Given the description of an element on the screen output the (x, y) to click on. 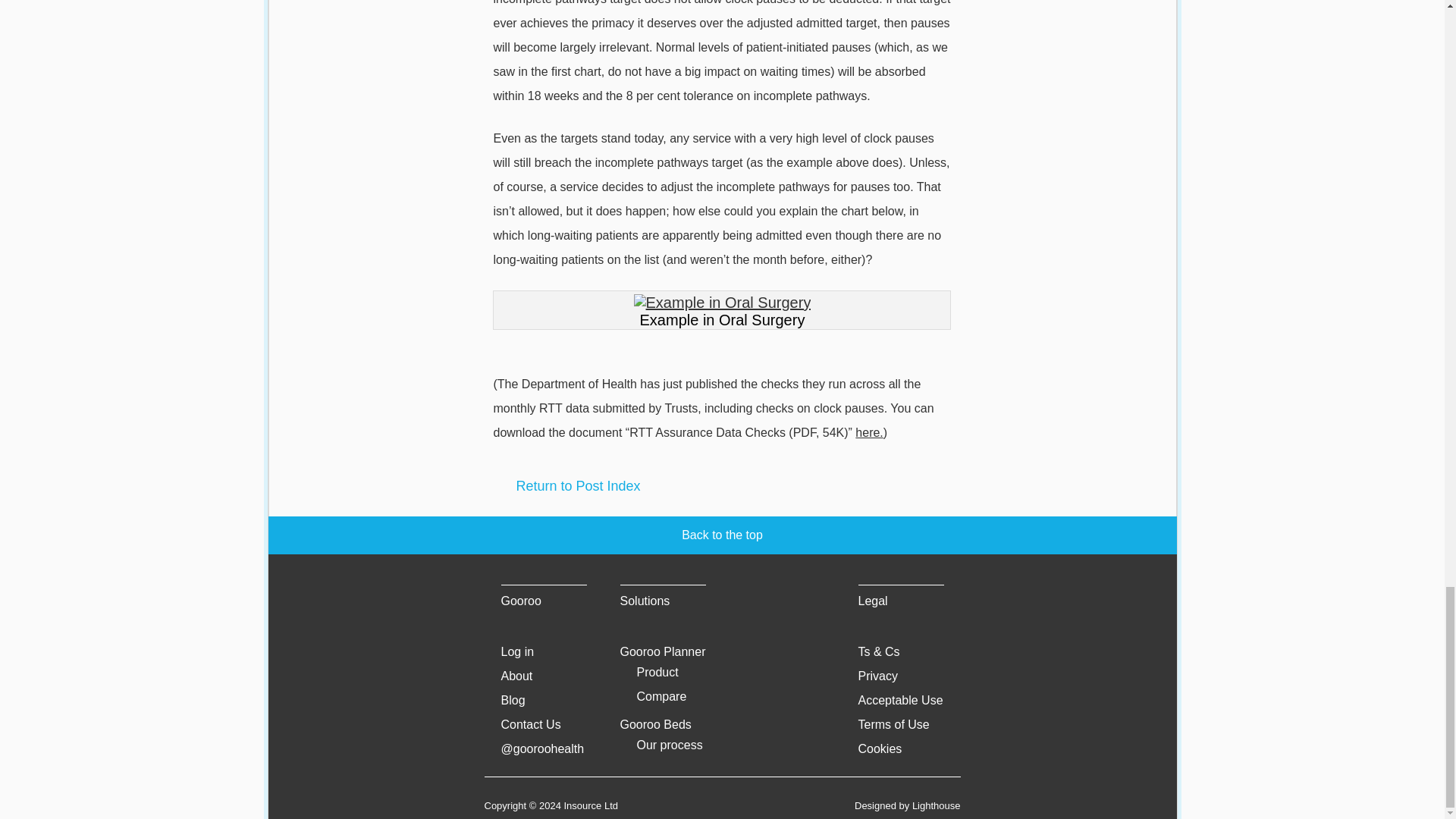
Acceptable Use (901, 699)
Example in Oral Surgery (721, 303)
Return to Post Index (721, 485)
Our process (670, 744)
About (516, 675)
Designed by Lighthouse (907, 805)
DH: Referral to Treatment Waiting Times Guidance (869, 431)
Gooroo Beds (655, 724)
Blog (512, 699)
here. (869, 431)
